Given the description of an element on the screen output the (x, y) to click on. 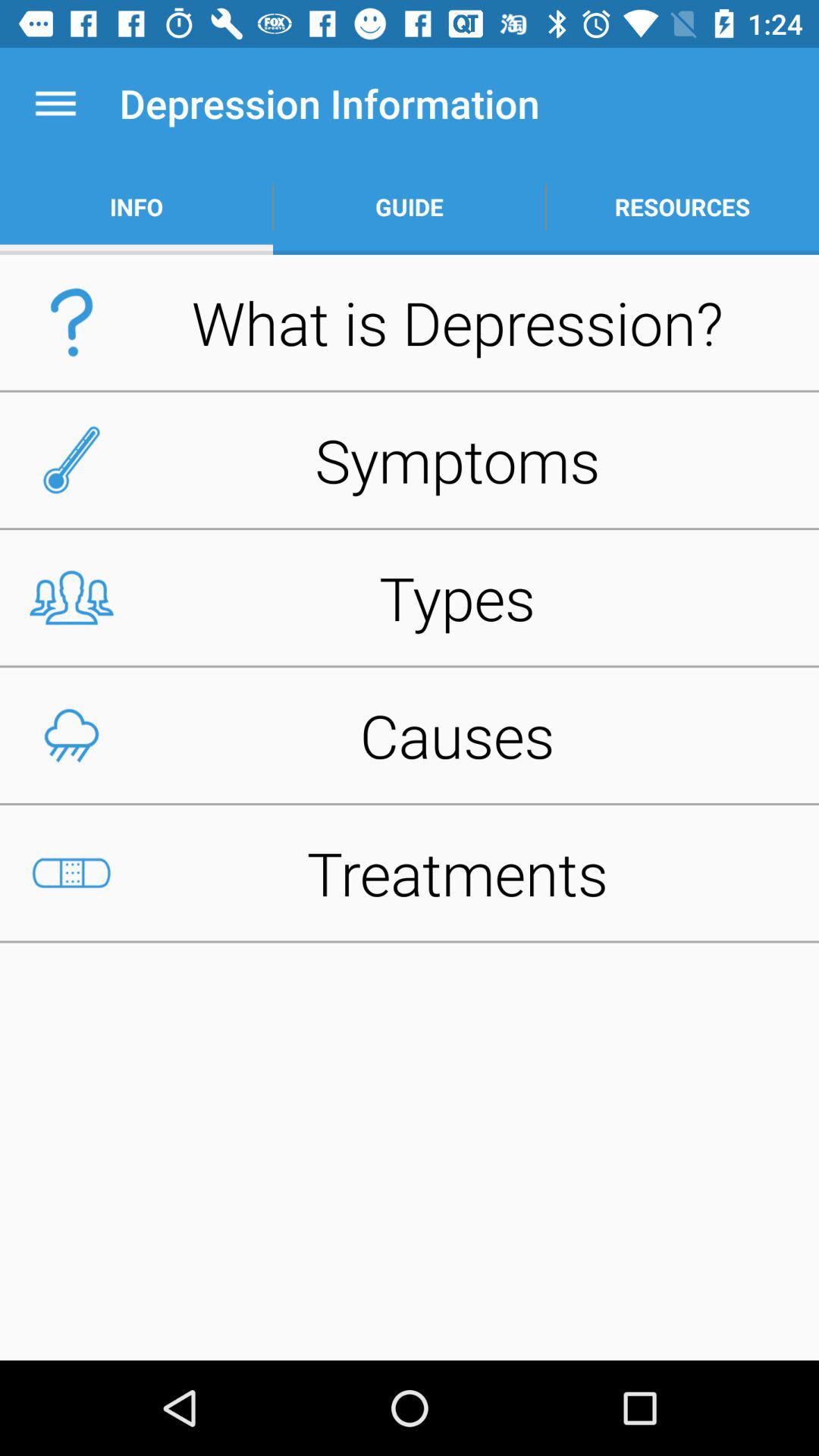
flip until treatments (409, 872)
